Given the description of an element on the screen output the (x, y) to click on. 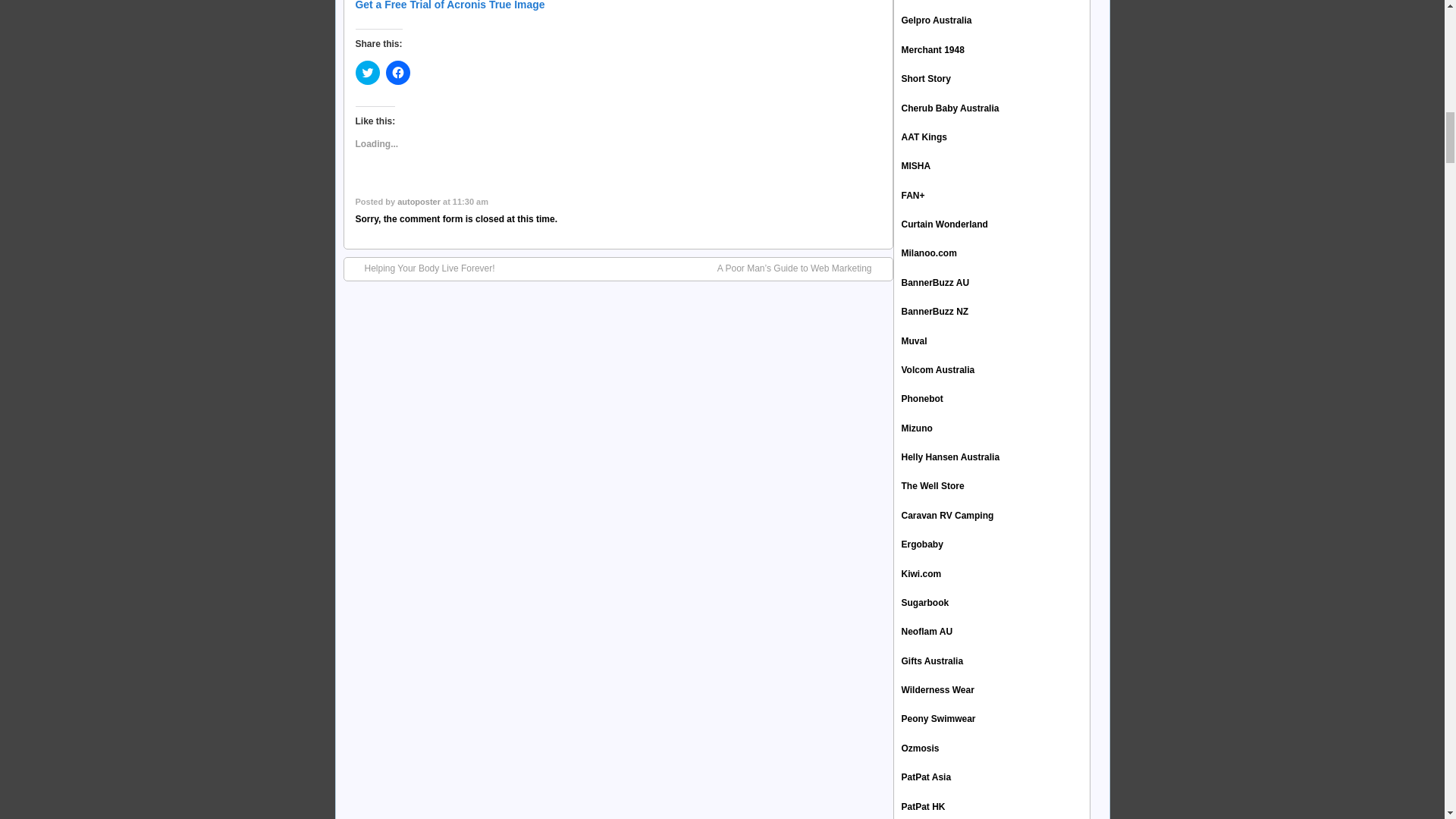
  Helping Your Body Live Forever! (422, 268)
autoposter (419, 201)
Click to share on Facebook (397, 72)
Get a Free Trial of Acronis True Image (449, 5)
Click to share on Twitter (366, 72)
